Given the description of an element on the screen output the (x, y) to click on. 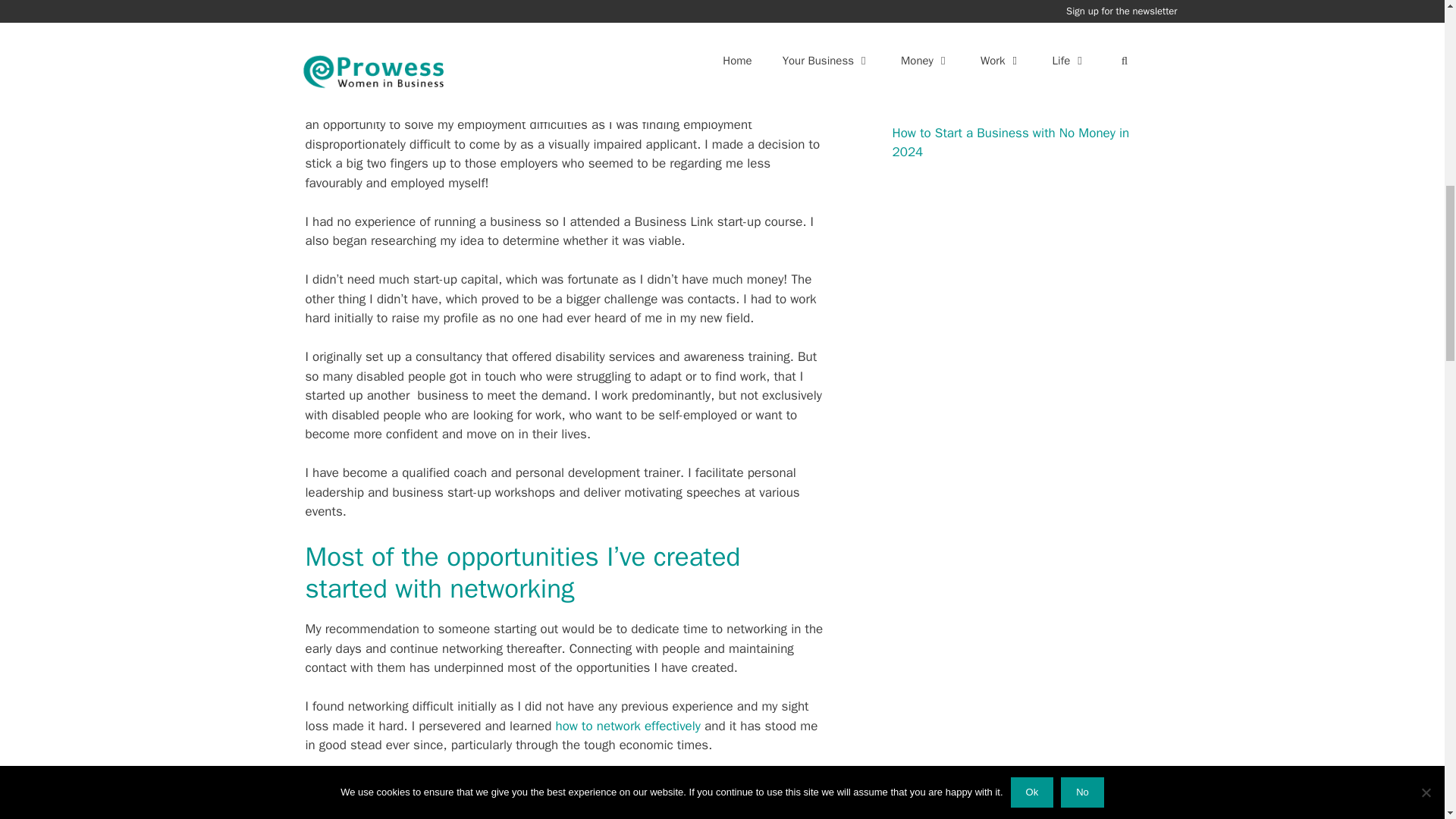
How to Network: 8 Steps to Success (627, 725)
